Given the description of an element on the screen output the (x, y) to click on. 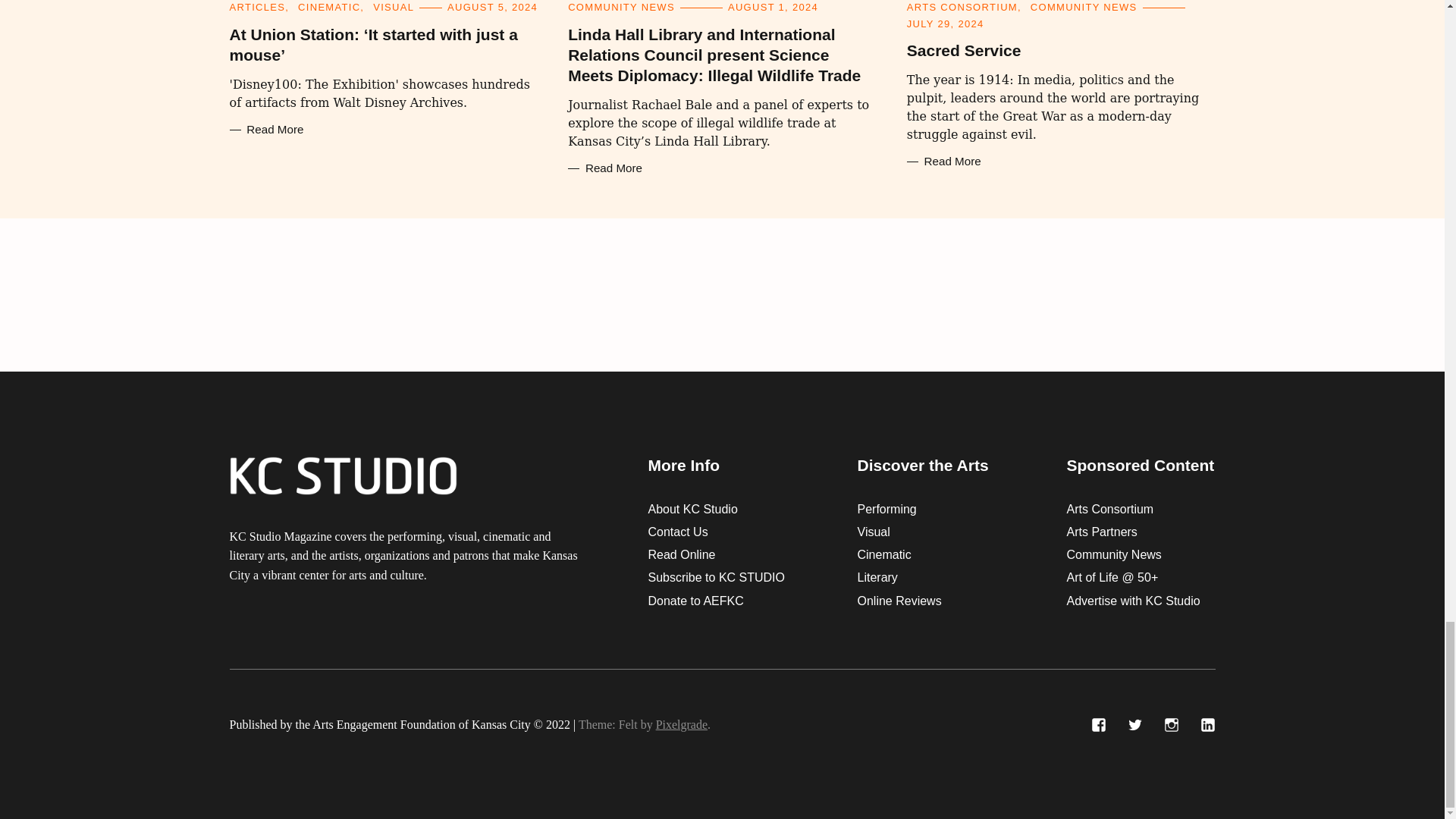
3rd party ad content (721, 295)
The Pixelgrade Website (681, 724)
